Given the description of an element on the screen output the (x, y) to click on. 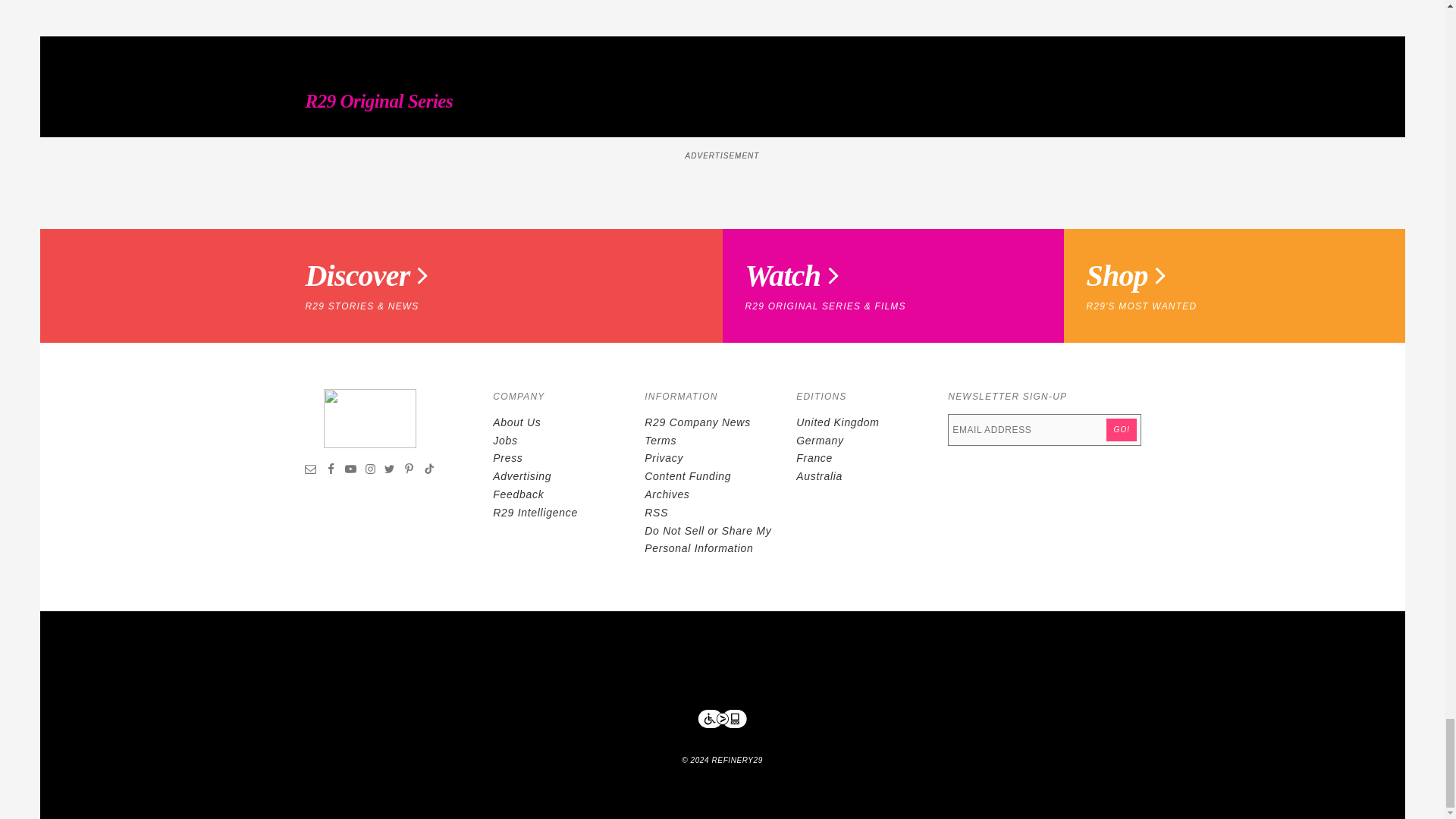
Visit Refinery29 on Instagram (370, 470)
Sign up for newsletters (310, 470)
Visit Refinery29 on Pinterest (408, 470)
Visit Refinery29 on Facebook (331, 470)
Visit Refinery29 on Twitter (389, 470)
Visit Refinery29 on YouTube (350, 470)
